Given the description of an element on the screen output the (x, y) to click on. 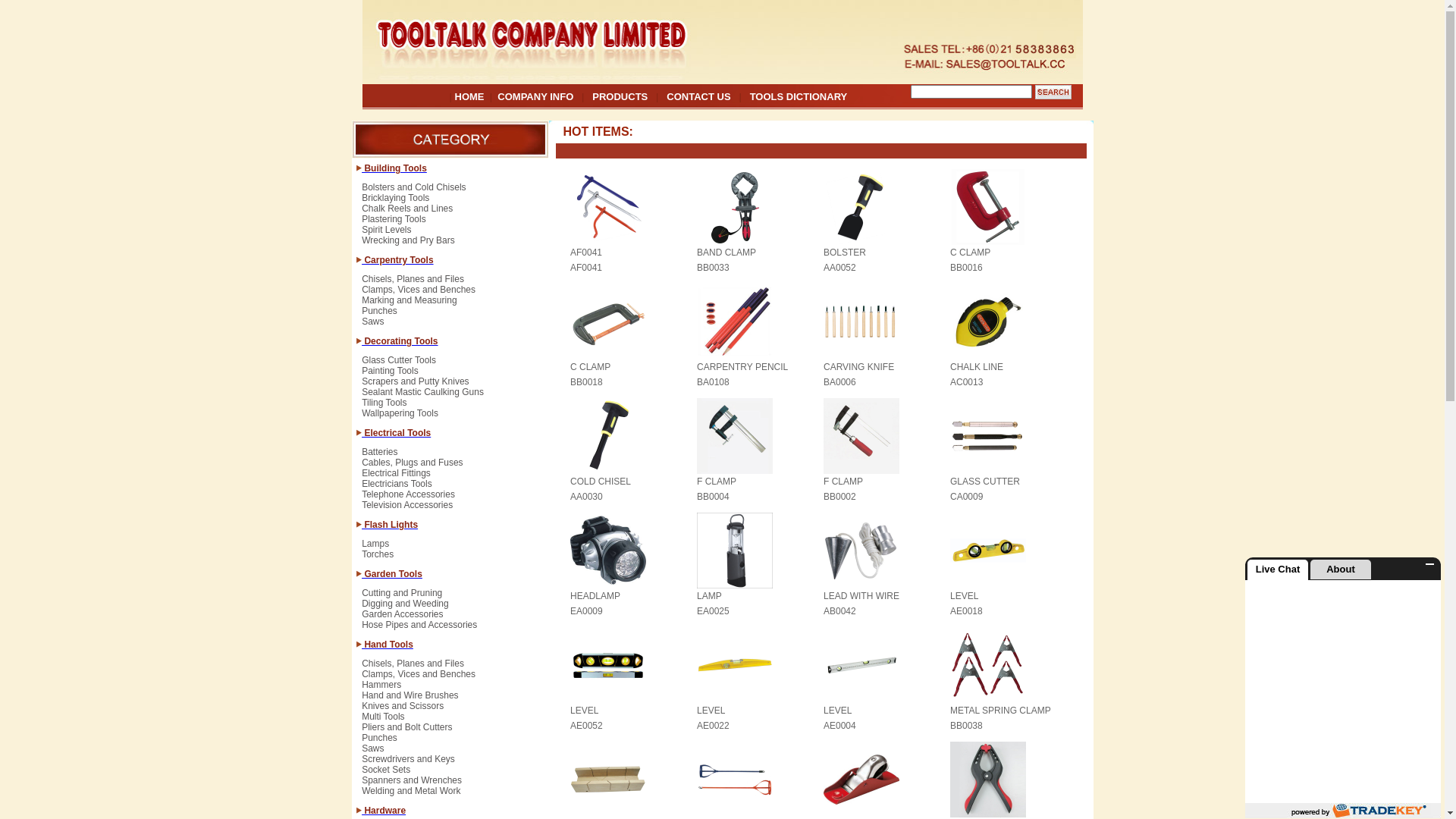
Wrecking and Pry Bars Element type: text (408, 240)
Punches Element type: text (379, 315)
Painting Tools Element type: text (389, 375)
Tiling Tools Element type: text (383, 407)
Garden Tools Element type: text (391, 573)
LEVEL Element type: text (837, 710)
Clamps, Vices and Benches Element type: text (418, 294)
Electrical Fittings Element type: text (395, 478)
LAMP Element type: text (708, 595)
Electrical Tools Element type: text (395, 432)
Multi Tools Element type: text (382, 721)
Decorating Tools Element type: text (399, 340)
Live Chat Element type: text (1277, 569)
Marking and Measuring Element type: text (408, 305)
GLASS CUTTER Element type: text (984, 481)
PRODUCTS Element type: text (619, 96)
C CLAMP Element type: text (970, 252)
AF0041 Element type: text (586, 252)
HEADLAMP Element type: text (595, 595)
BAND CLAMP Element type: text (726, 252)
CHALK LINE Element type: text (976, 366)
Glass Cutter Tools Element type: text (398, 365)
LEVEL Element type: text (964, 595)
Hardware Element type: text (383, 809)
Punches Element type: text (379, 742)
Knives and Scissors Element type: text (402, 710)
CARPENTRY PENCIL Element type: text (741, 366)
Scrapers and Putty Knives Element type: text (414, 386)
Batteries Element type: text (379, 456)
METAL SPRING CLAMP Element type: text (1000, 710)
Screwdrivers and Keys Element type: text (408, 764)
Socket Sets Element type: text (385, 774)
Hose Pipes and Accessories Element type: text (418, 624)
C CLAMP Element type: text (590, 366)
Bricklaying Tools Element type: text (395, 202)
Spanners and Wrenches Element type: text (411, 785)
Television Accessories Element type: text (406, 504)
COLD CHISEL Element type: text (600, 481)
Saws Element type: text (372, 321)
Garden Accessories Element type: text (401, 619)
LEAD WITH WIRE Element type: text (861, 595)
Pliers and Bolt Cutters Element type: text (406, 732)
Hand and Wire Brushes Element type: text (409, 700)
Spirit Levels Element type: text (386, 234)
Plastering Tools Element type: text (393, 224)
F CLAMP Element type: text (716, 481)
Saws Element type: text (372, 753)
Bolsters and Cold Chisels Element type: text (413, 192)
Cutting and Pruning Element type: text (401, 597)
LEVEL Element type: text (584, 710)
About Element type: text (1340, 569)
F CLAMP Element type: text (842, 481)
CONTACT US Element type: text (698, 96)
Sealant Mastic Caulking Guns Element type: text (422, 396)
Electricians Tools Element type: text (396, 488)
Building Tools Element type: text (393, 167)
HOME Element type: text (469, 96)
Chisels, Planes and Files Element type: text (412, 668)
Carpentry Tools Element type: text (397, 259)
Chalk Reels and Lines Element type: text (406, 213)
COMPANY INFO Element type: text (535, 96)
Lamps Element type: text (375, 548)
Hand Tools Element type: text (387, 643)
LEVEL Element type: text (710, 710)
Telephone Accessories Element type: text (408, 499)
Welding and Metal Work Element type: text (410, 790)
TOOLS DICTIONARY Element type: text (798, 96)
Digging and Weeding Element type: text (404, 608)
CARVING KNIFE Element type: text (858, 366)
Cables, Plugs and Fuses Element type: text (411, 467)
Wallpapering Tools Element type: text (399, 412)
BOLSTER Element type: text (844, 252)
Clamps, Vices and Benches Element type: text (418, 679)
Flash Lights Element type: text (389, 524)
Torches Element type: text (377, 554)
Chisels, Planes and Files Element type: text (412, 283)
Hammers Element type: text (381, 689)
